Given the description of an element on the screen output the (x, y) to click on. 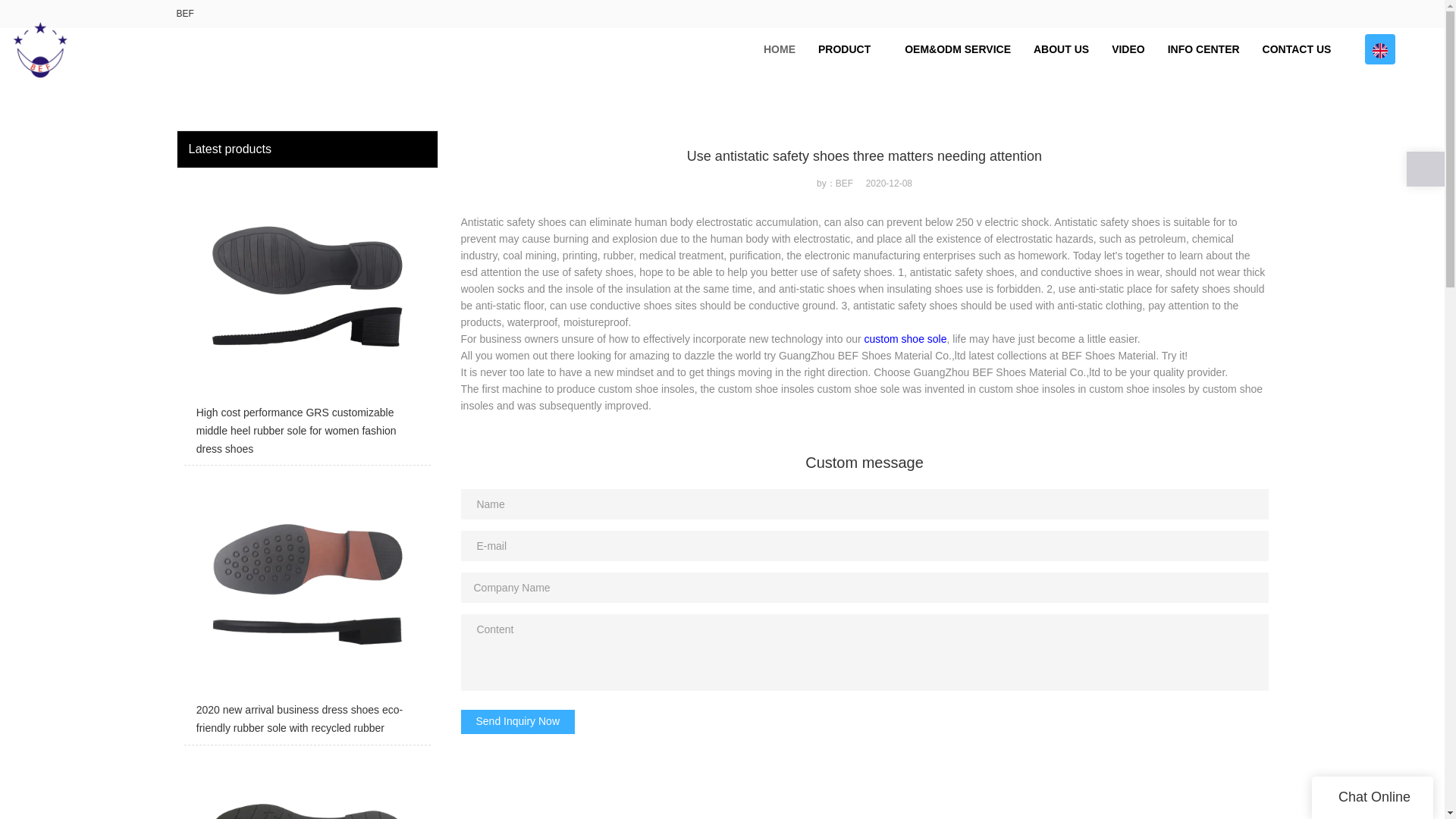
INFO CENTER (1203, 49)
custom shoe sole (905, 338)
Send Inquiry Now (518, 721)
PRODUCT (849, 49)
BEF (184, 13)
CONTACT US (1296, 49)
ABOUT US (1061, 49)
